Given the description of an element on the screen output the (x, y) to click on. 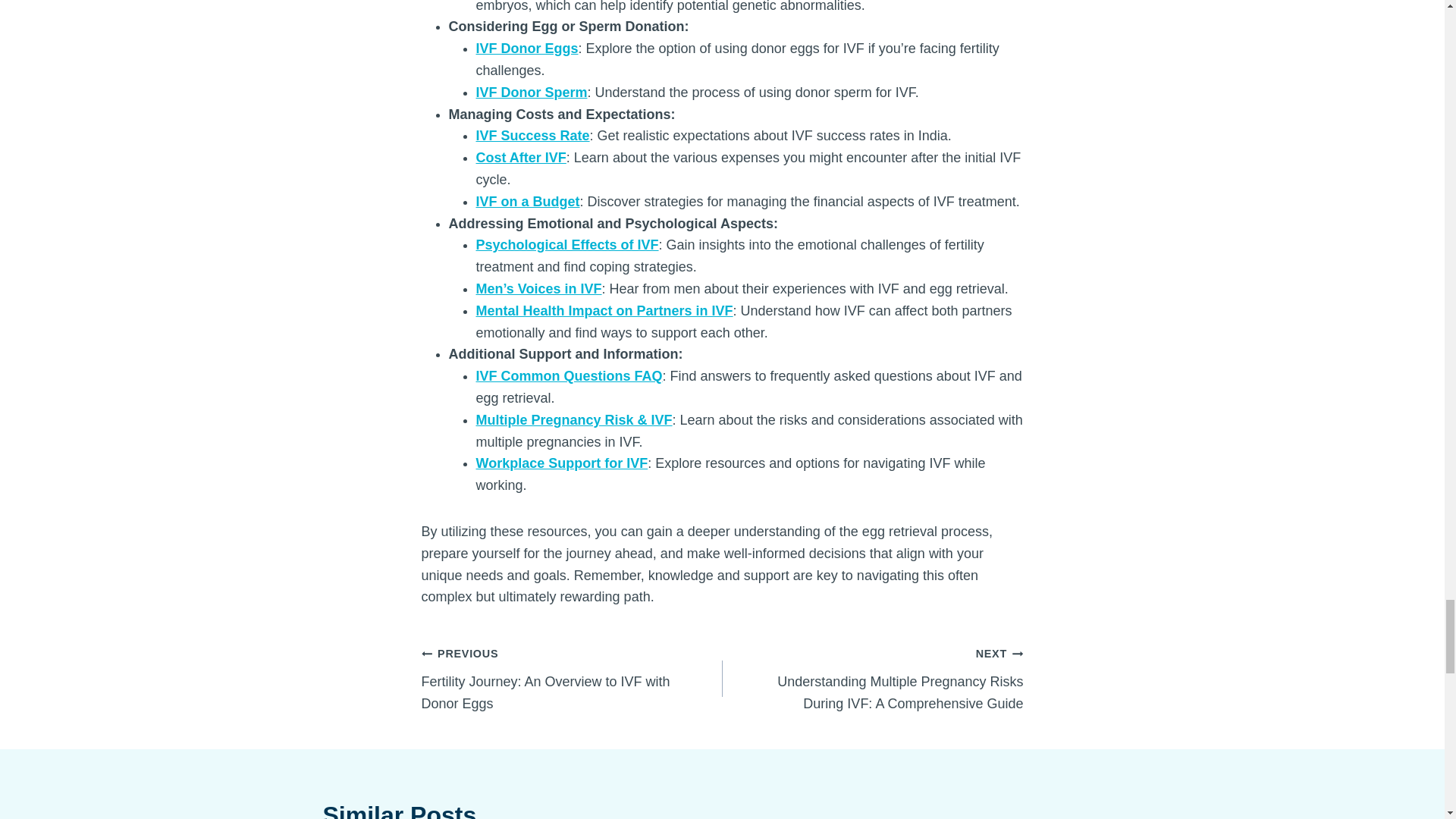
IVF Success Rate (532, 135)
IVF Common Questions FAQ (569, 376)
IVF on a Budget (527, 201)
Psychological Effects of IVF (567, 244)
IVF Donor Eggs (527, 48)
IVF Donor Sperm (532, 92)
Workplace Support for IVF (561, 462)
Cost After IVF (521, 157)
